Given the description of an element on the screen output the (x, y) to click on. 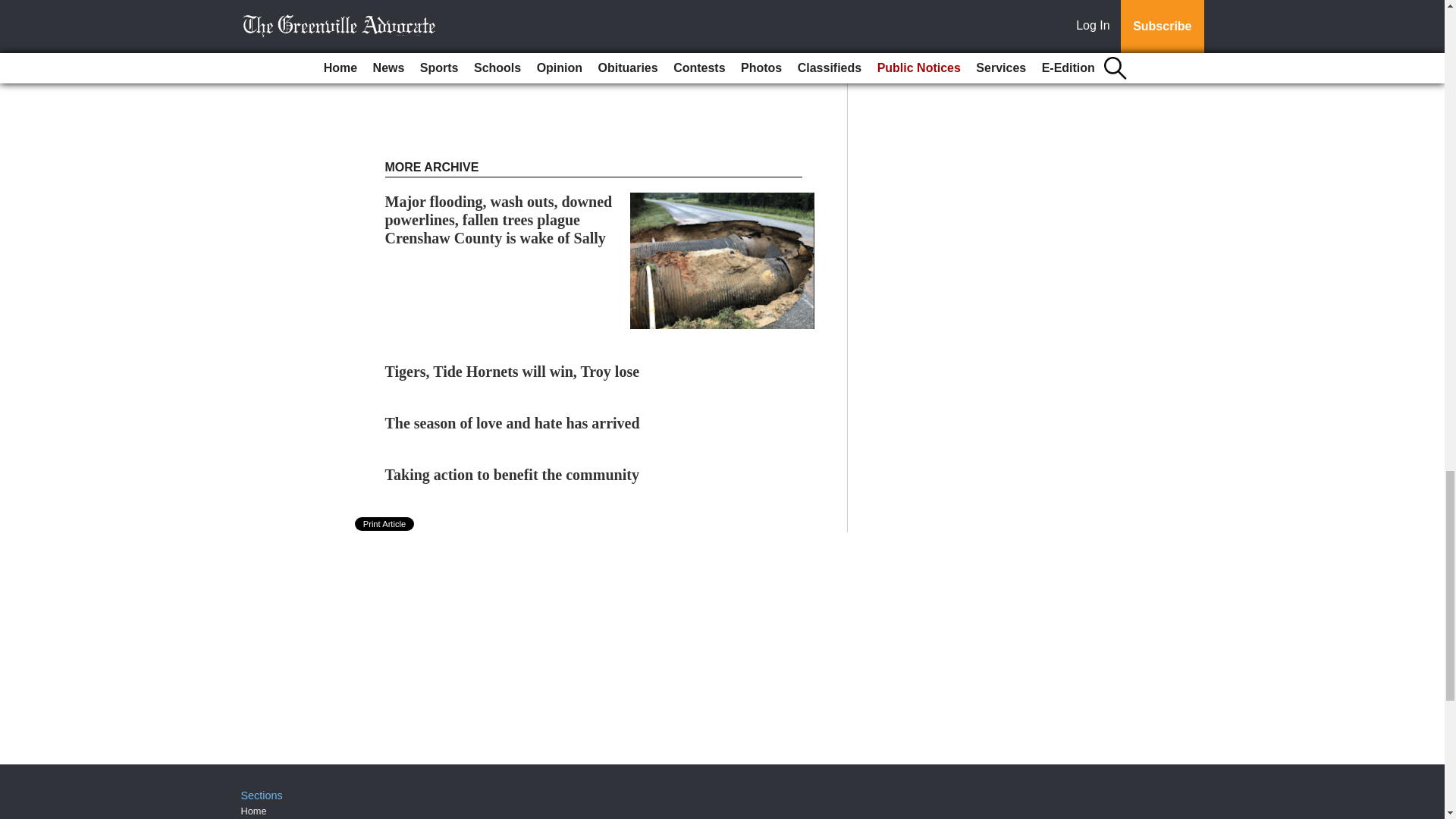
Print Article (384, 523)
The season of love and hate has arrived (512, 422)
Home (253, 810)
Taking action to benefit the community (512, 474)
Tigers, Tide Hornets will win, Troy lose (512, 371)
Tigers, Tide Hornets will win, Troy lose (512, 371)
The season of love and hate has arrived (512, 422)
Taking action to benefit the community (512, 474)
